Given the description of an element on the screen output the (x, y) to click on. 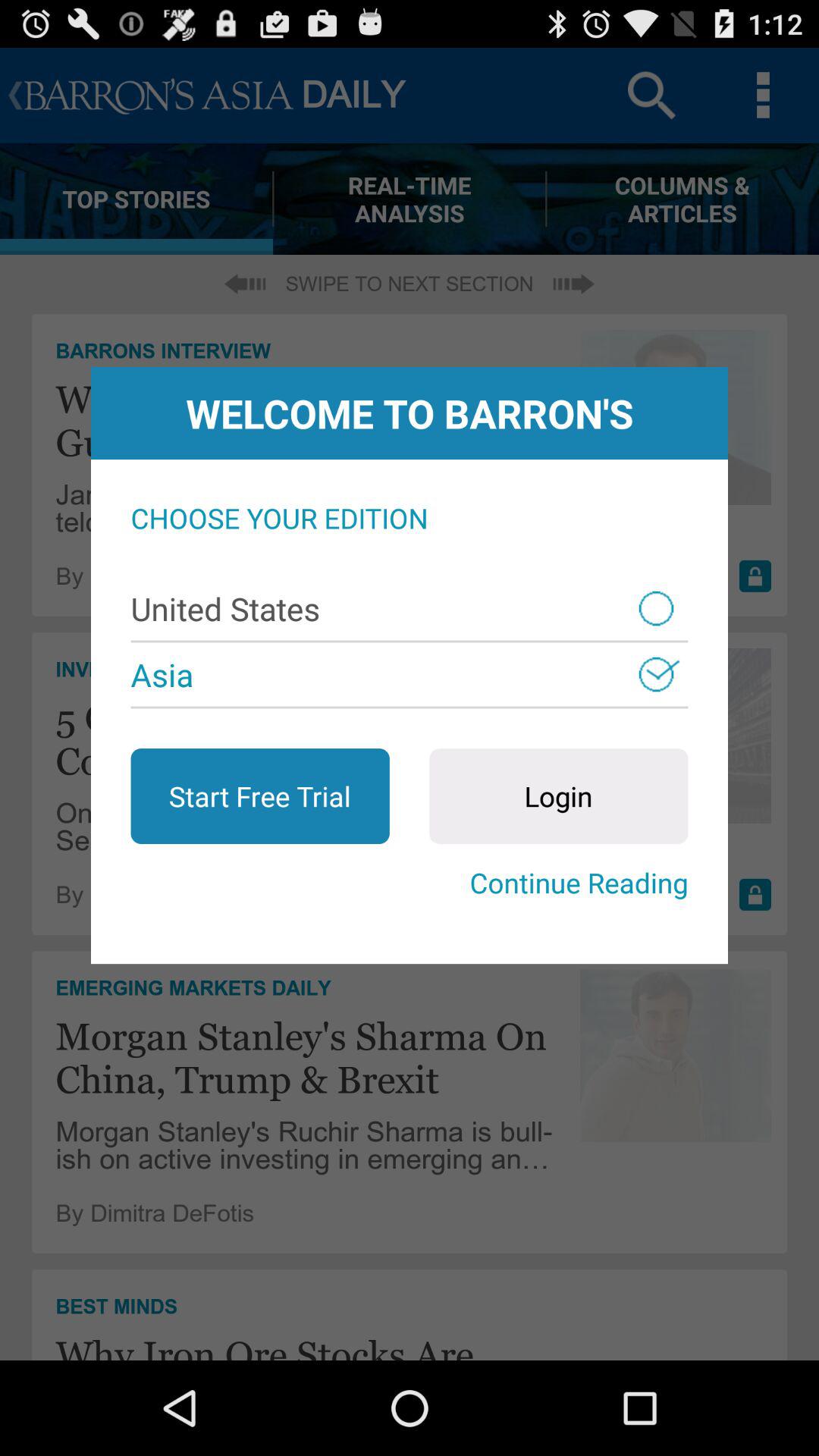
scroll until start free trial icon (259, 796)
